Given the description of an element on the screen output the (x, y) to click on. 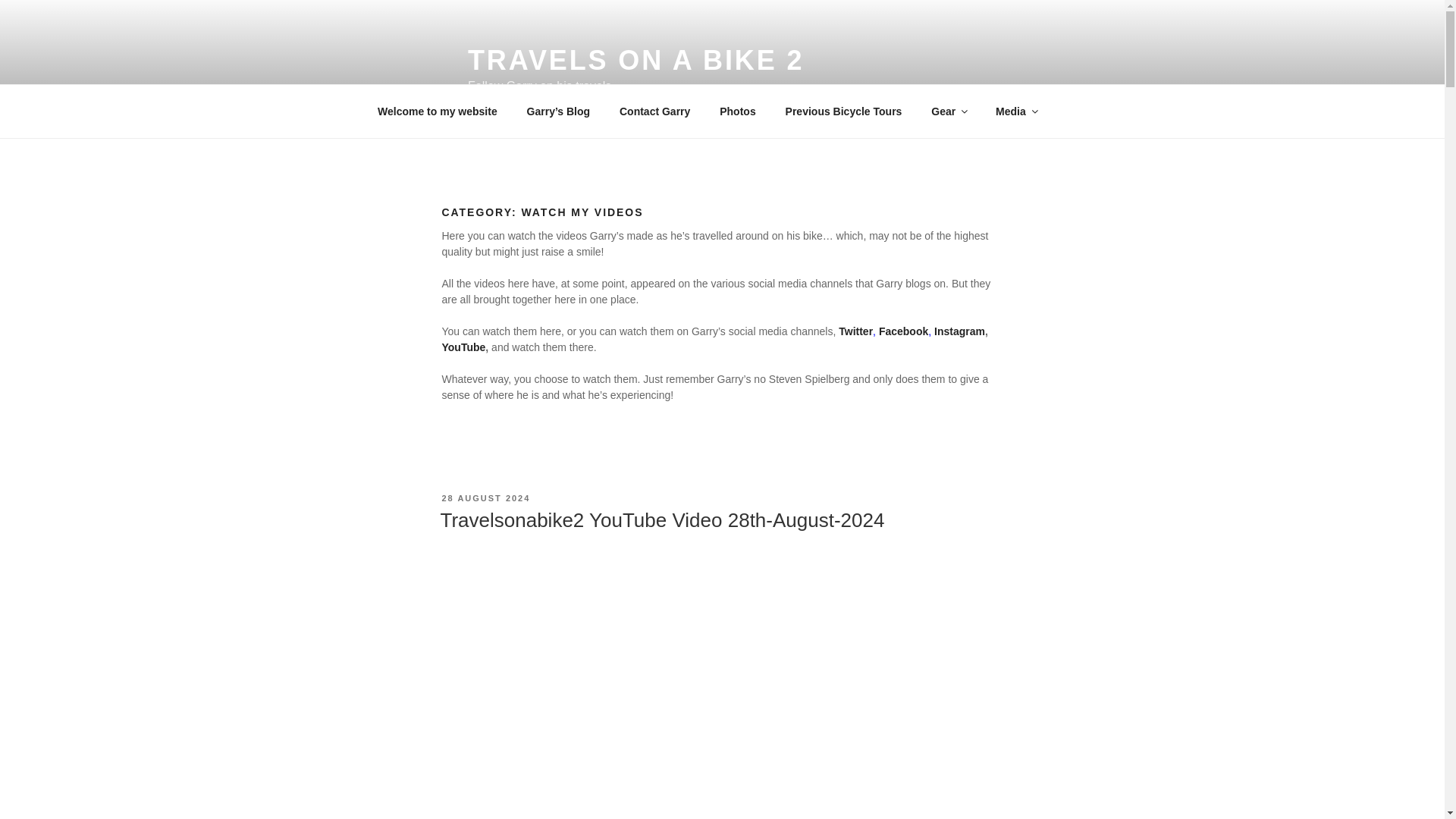
Media (1015, 110)
TRAVELS ON A BIKE 2 (635, 60)
YouTube (462, 346)
Photos (737, 110)
Opens a new window (855, 331)
28 AUGUST 2024 (485, 497)
Opens in a new window (959, 331)
Facebook (903, 331)
Instagram (959, 331)
Contact Garry (654, 110)
